Given the description of an element on the screen output the (x, y) to click on. 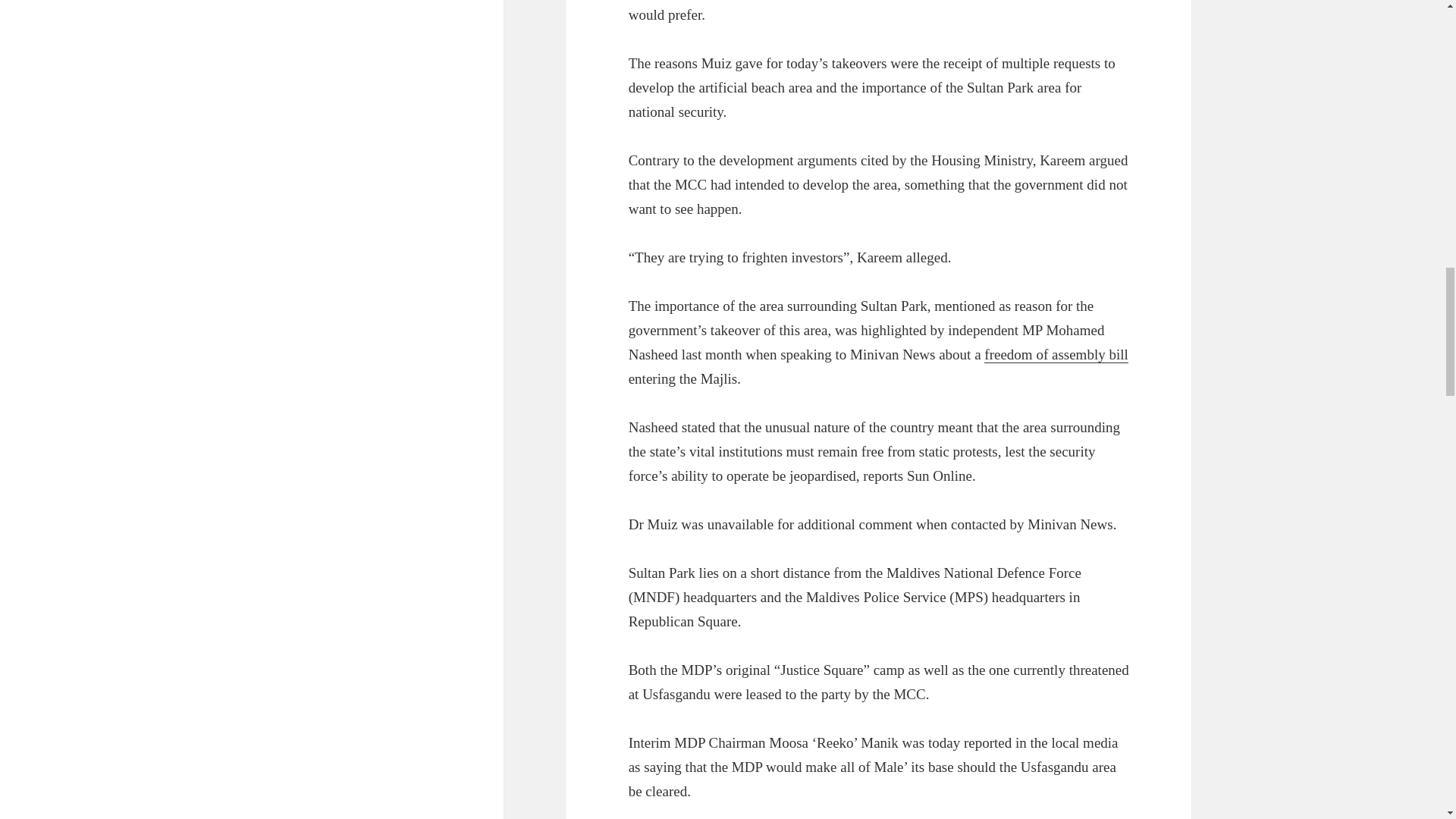
freedom of assembly bill (1055, 354)
